Given the description of an element on the screen output the (x, y) to click on. 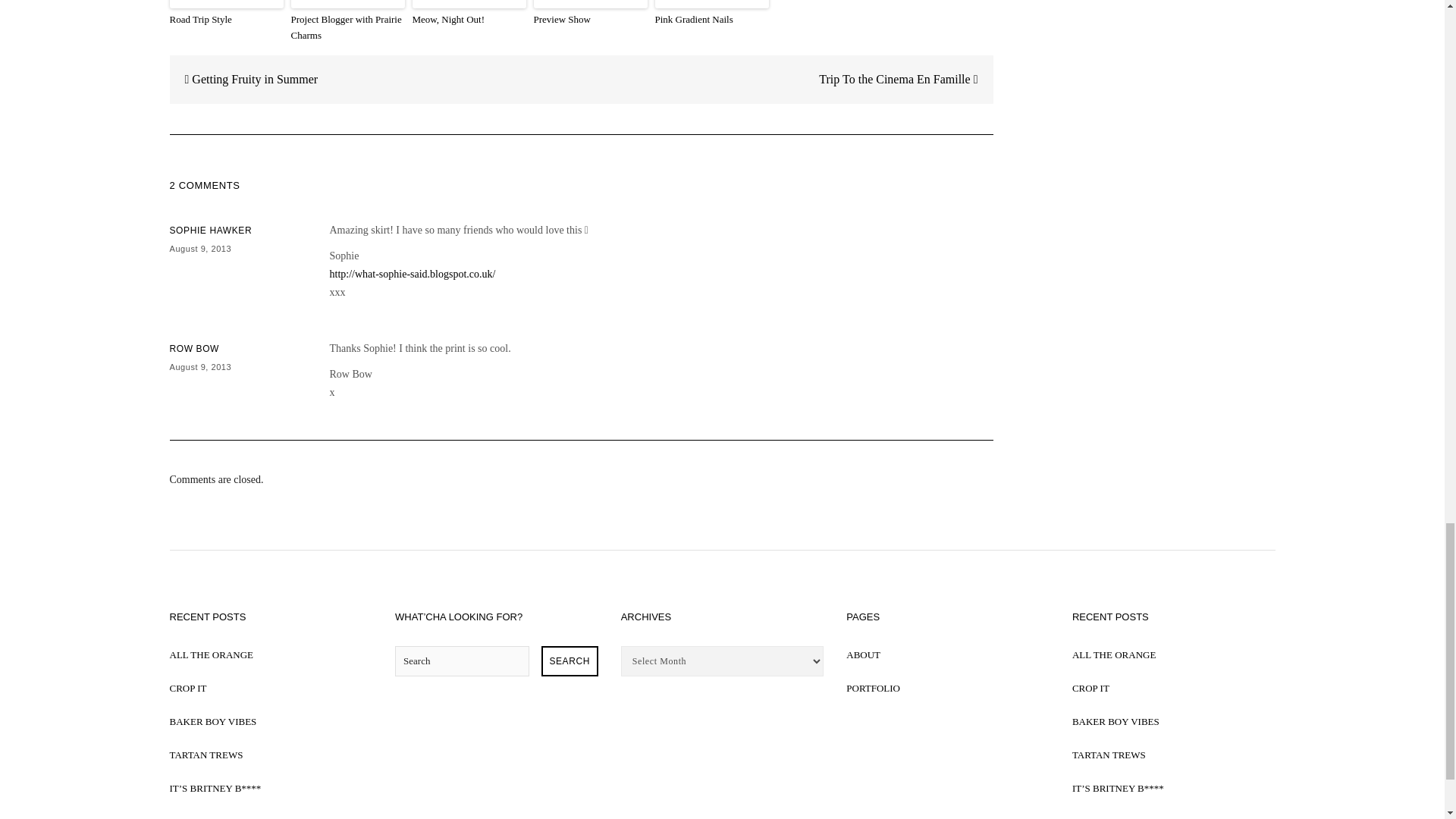
Road Trip Style (226, 19)
Meow, Night Out! (468, 19)
Project Blogger with Prairie Charms (347, 28)
